Given the description of an element on the screen output the (x, y) to click on. 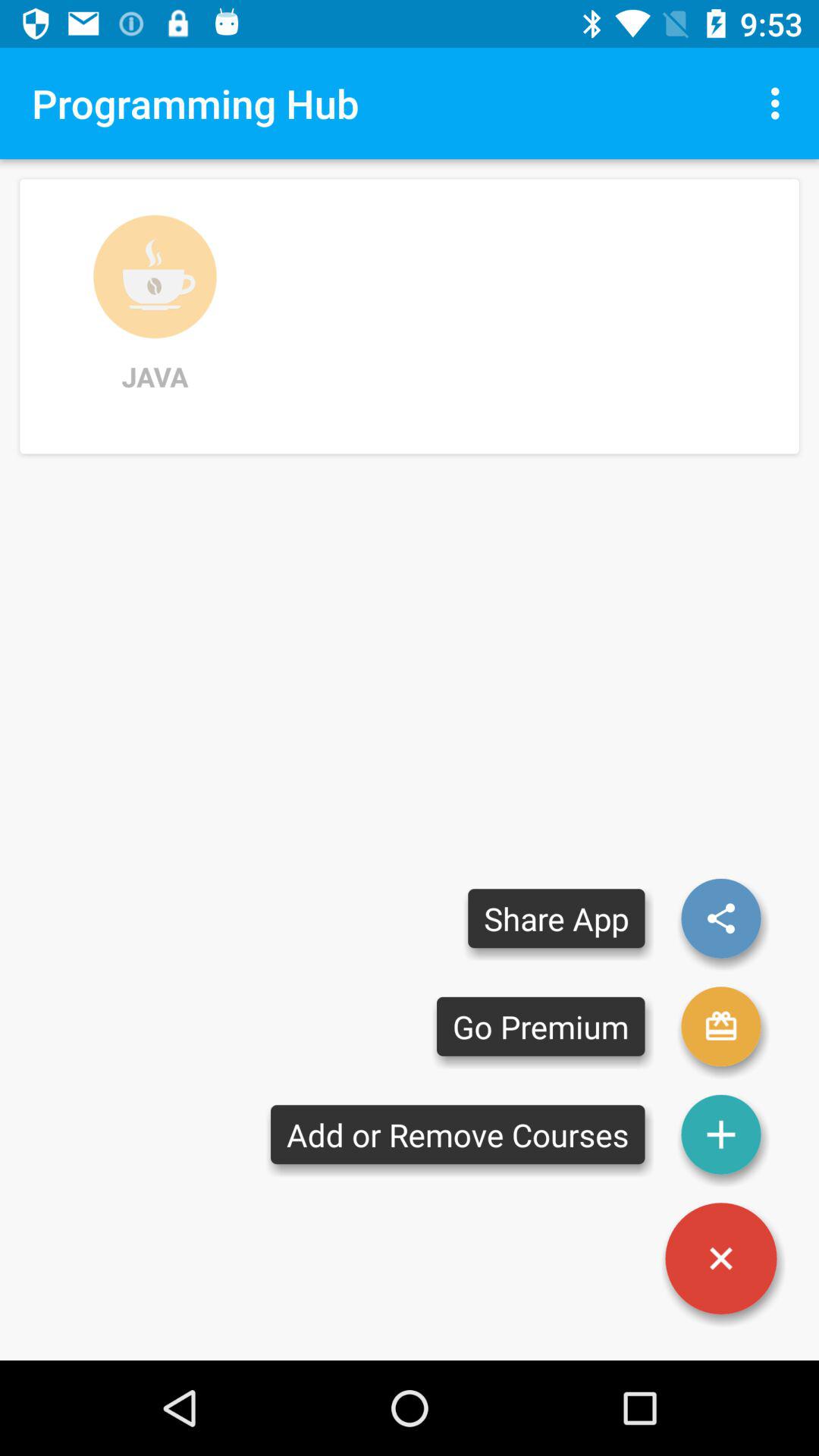
view premium offerings (721, 1026)
